Given the description of an element on the screen output the (x, y) to click on. 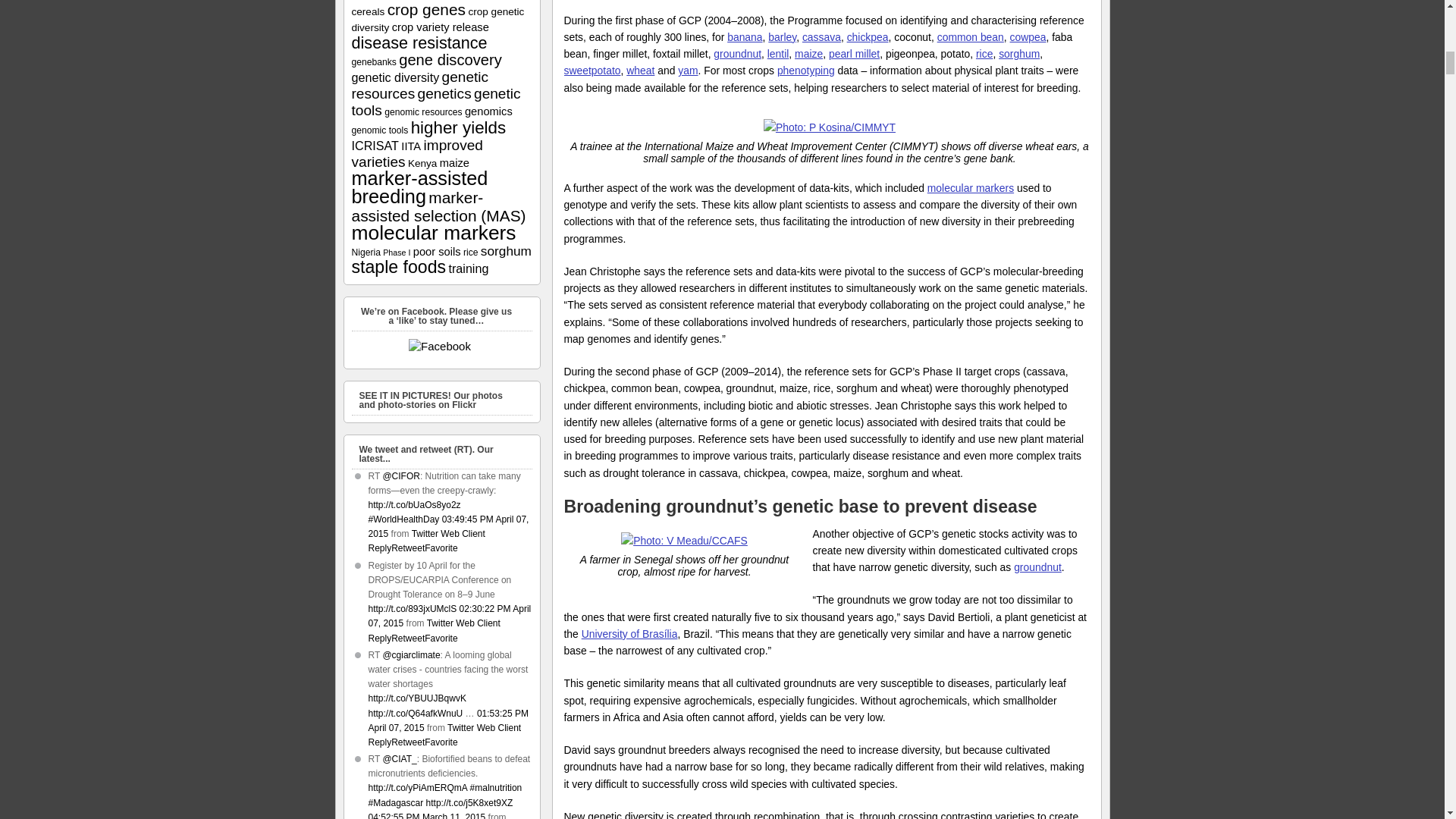
common bean (970, 37)
groundnut (737, 53)
lentil (778, 53)
chickpea (867, 37)
banana (743, 37)
maize (808, 53)
barley (782, 37)
cassava (821, 37)
cowpea (1028, 37)
